Given the description of an element on the screen output the (x, y) to click on. 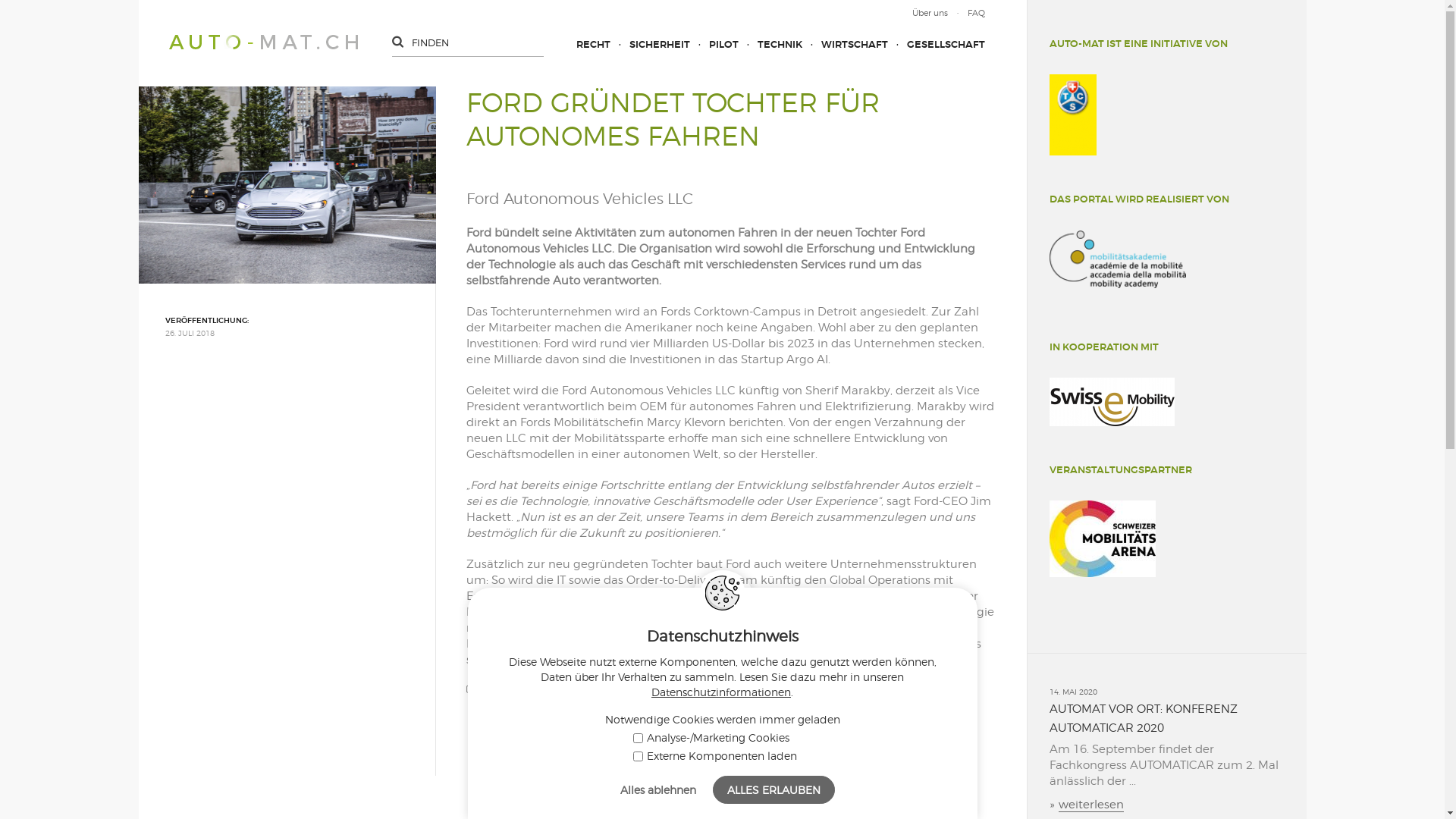
TECHNIK Element type: text (770, 44)
Datenschutzinformationen Element type: text (720, 691)
WIRTSCHAFT Element type: text (845, 44)
Zur Startseite Element type: hover (262, 41)
Alles ablehnen Element type: text (657, 789)
TCS Element type: hover (1072, 114)
PILOT Element type: text (714, 44)
ALLES ERLAUBEN Element type: text (773, 789)
Quelle: Read more Element type: text (527, 690)
Swiss eMobility Element type: hover (1111, 401)
RECHT Element type: text (593, 44)
SICHERHEIT Element type: text (649, 44)
FAQ Element type: text (966, 12)
GESELLSCHAFT Element type: text (935, 44)
